Given the description of an element on the screen output the (x, y) to click on. 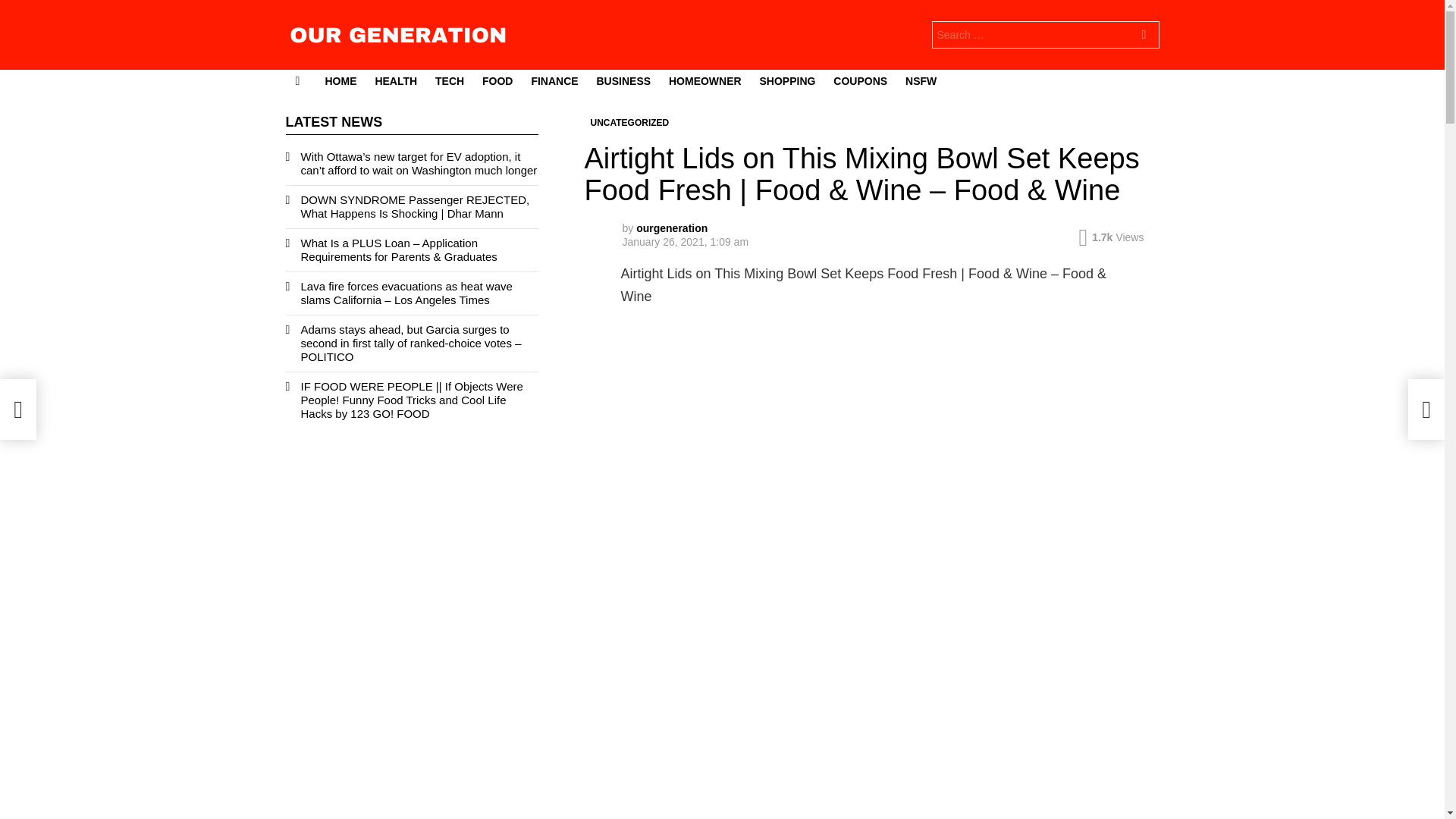
ourgeneration (671, 227)
Search for: (1044, 34)
HOMEOWNER (705, 80)
TECH (449, 80)
UNCATEGORIZED (629, 122)
FINANCE (553, 80)
SHOPPING (788, 80)
Menu (296, 81)
HOME (340, 80)
COUPONS (860, 80)
